Given the description of an element on the screen output the (x, y) to click on. 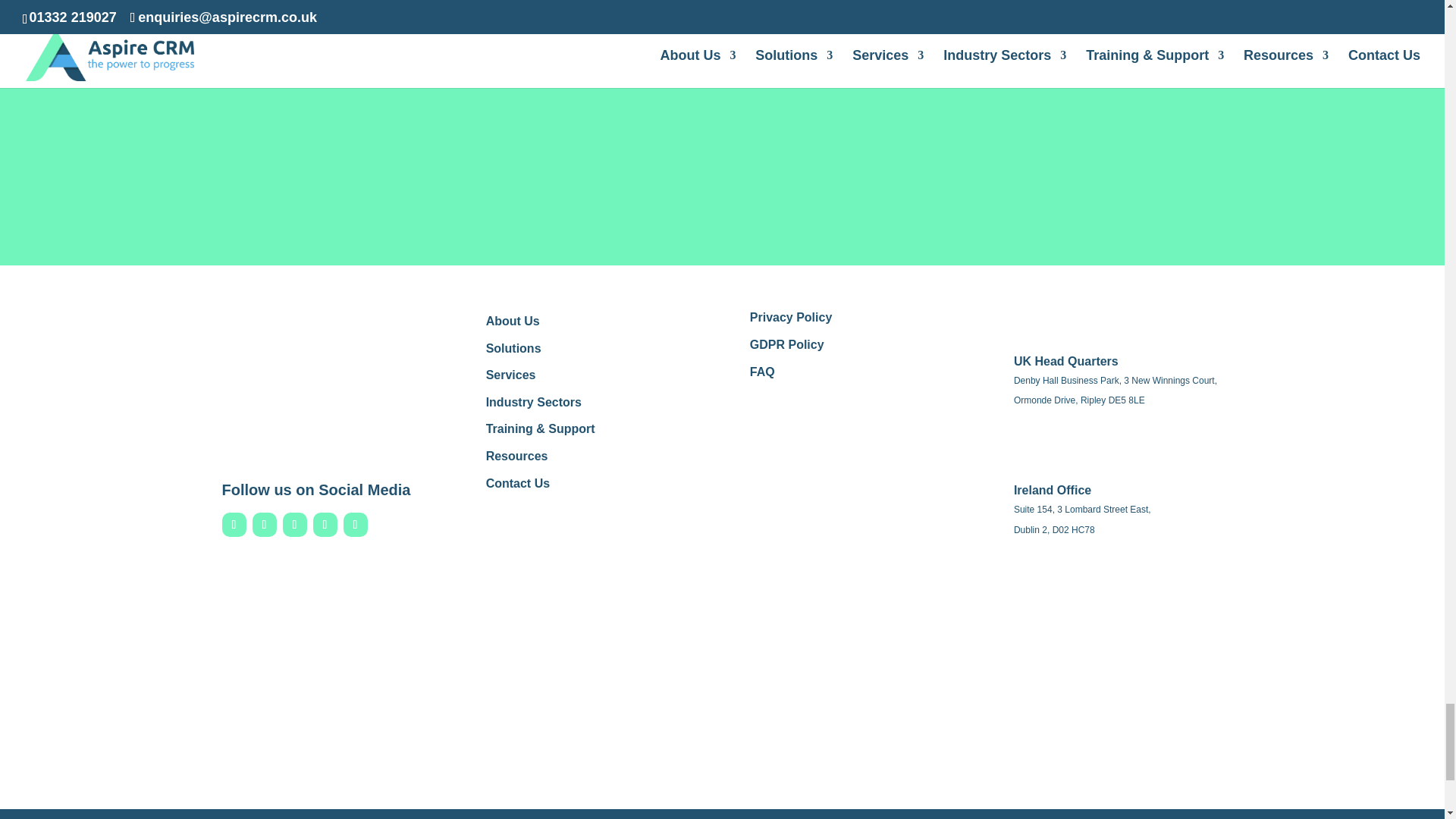
About Us (513, 320)
Resources (517, 455)
Follow on LinkedIn (263, 524)
Solutions (513, 348)
Follow on TikTok (354, 524)
Industry Sectors (533, 401)
Contact Us (518, 482)
Services (510, 374)
Follow on Youtube (324, 524)
Follow on Facebook (233, 524)
Follow on Instagram (293, 524)
